Given the description of an element on the screen output the (x, y) to click on. 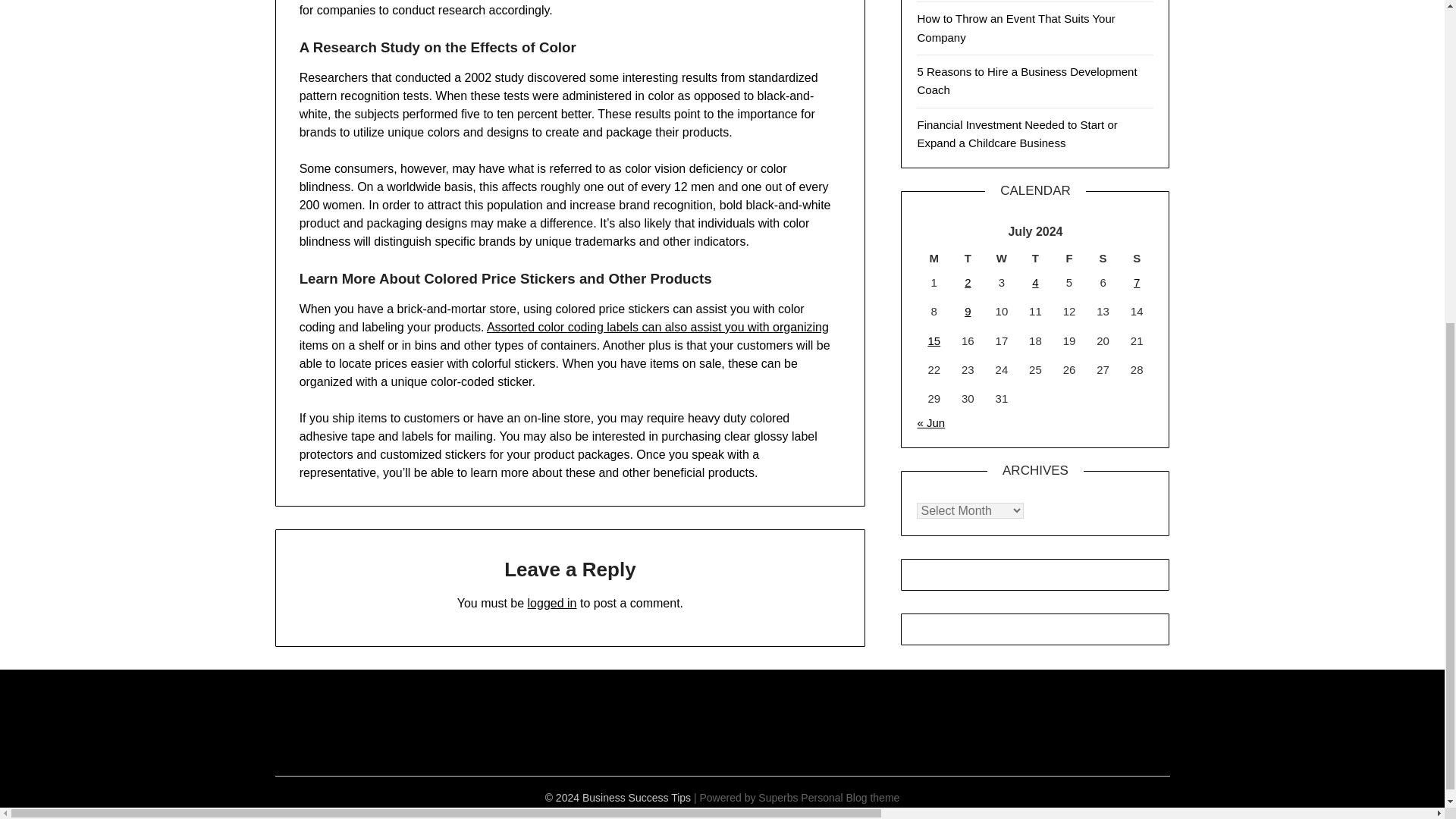
logged in (551, 603)
Information on Colored printable labels (657, 327)
Monday (933, 258)
Friday (1069, 258)
Sunday (1136, 258)
5 Reasons to Hire a Business Development Coach (1027, 80)
Wednesday (1002, 258)
Personal Blog theme (849, 797)
Thursday (1034, 258)
Saturday (1102, 258)
15 (933, 340)
How to Throw an Event That Suits Your Company (1016, 27)
Tuesday (967, 258)
